Given the description of an element on the screen output the (x, y) to click on. 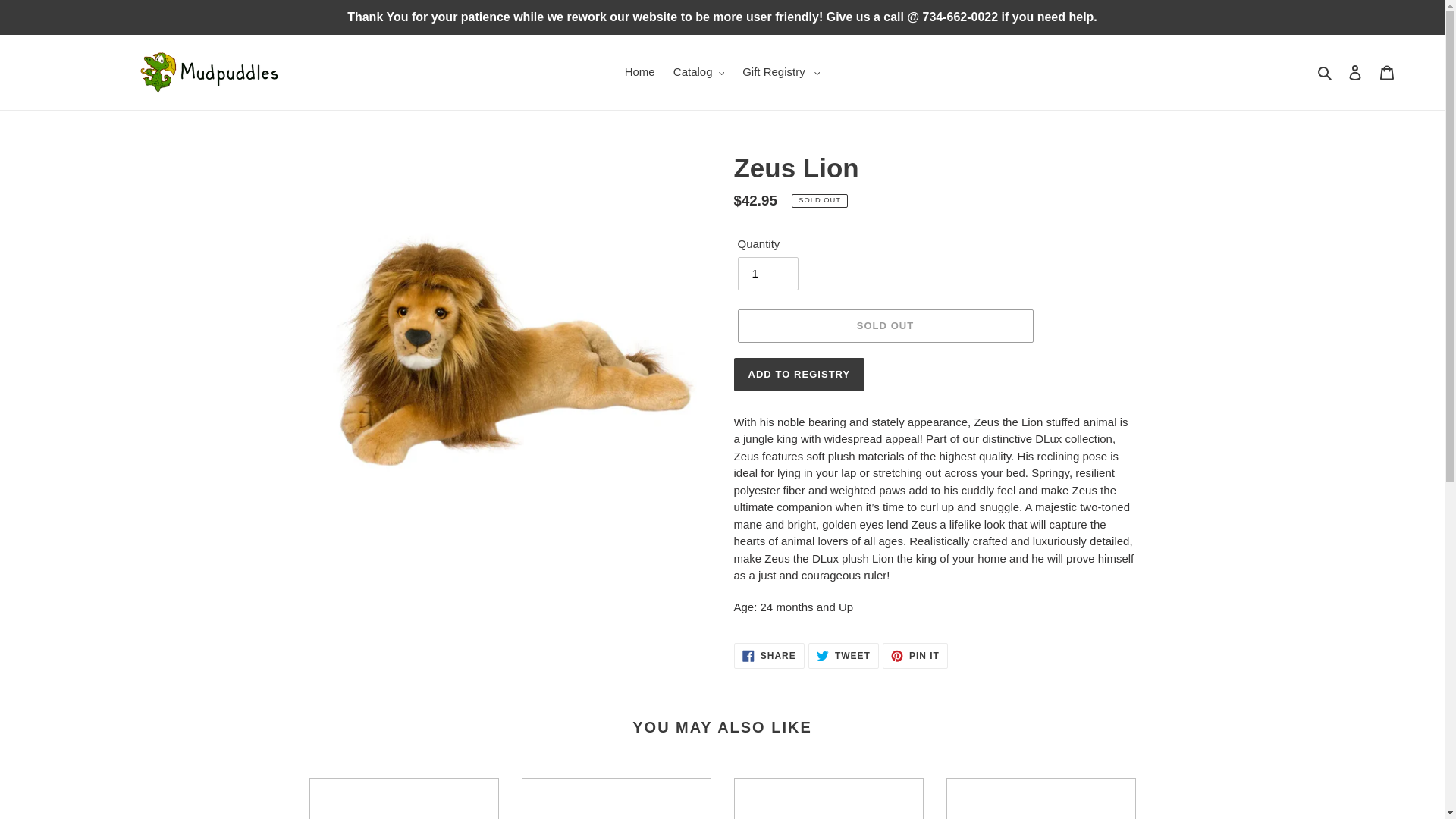
Catalog (698, 72)
Home (639, 72)
Add to Registry (798, 374)
Cart (1387, 72)
Search (1326, 72)
Log in (1355, 72)
1 (766, 273)
Gift Registry (781, 72)
